Given the description of an element on the screen output the (x, y) to click on. 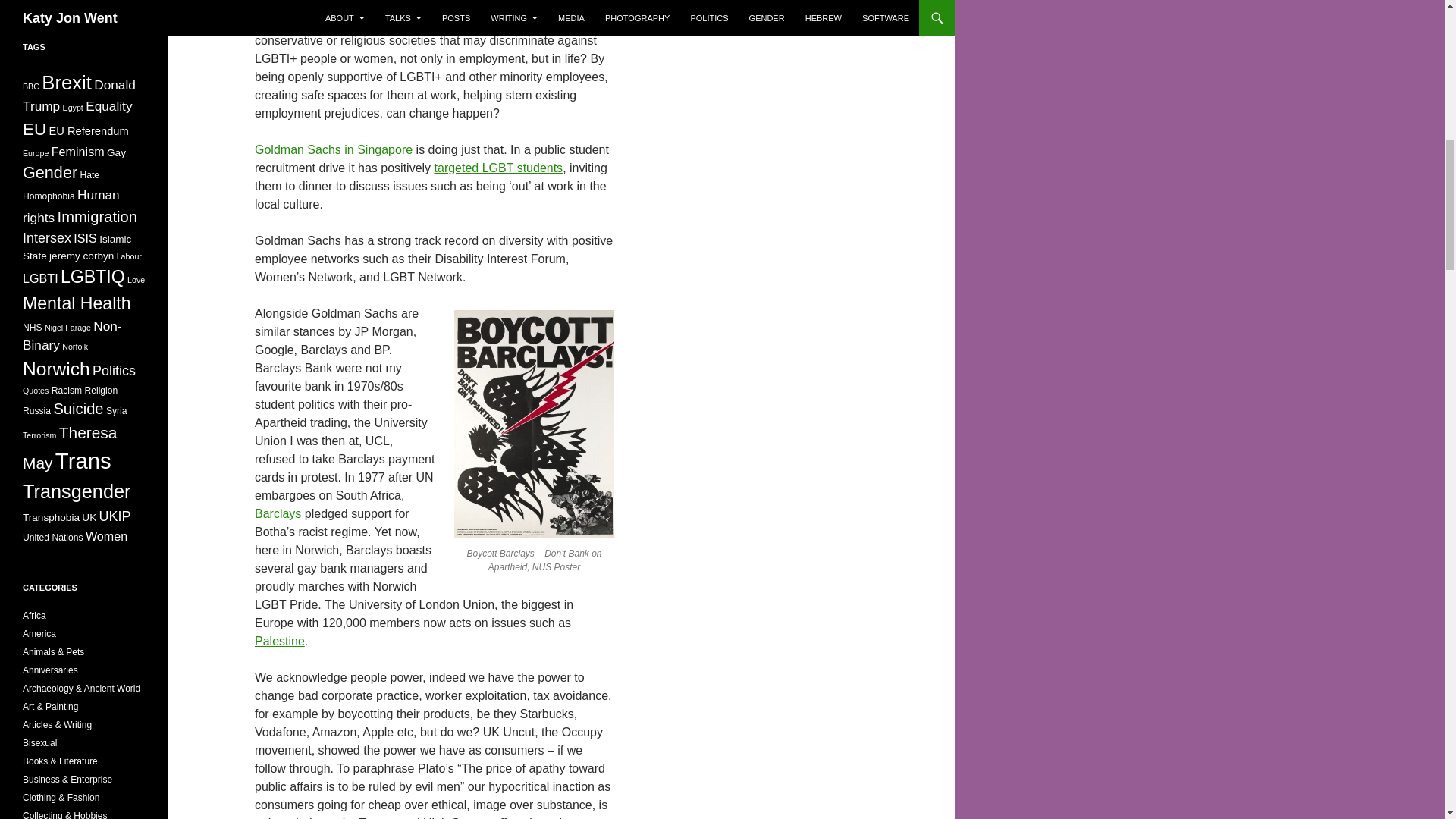
Barclays (277, 513)
Palestine (279, 640)
MyPaper Singapore on Goldman Sachs LGBT recruitment drive (498, 167)
BBC report on Goldman Sachs diversity and local law (333, 149)
targeted LGBT students (498, 167)
ULU on Palestine (279, 640)
Goldman Sachs in Singapore (333, 149)
Barclays and Apartheid (277, 513)
